Given the description of an element on the screen output the (x, y) to click on. 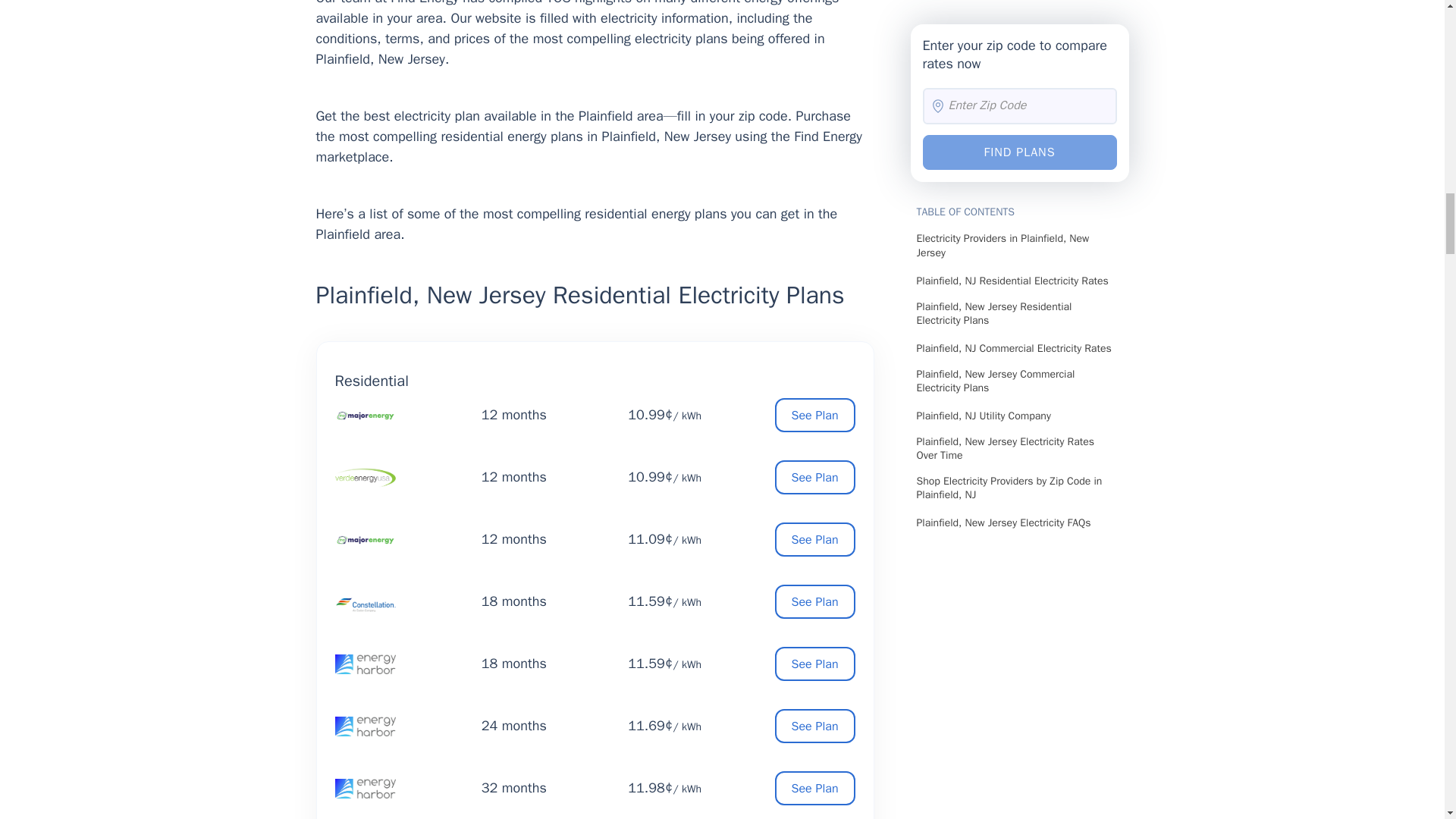
See Plan (815, 601)
See Plan (815, 725)
See Plan (815, 477)
See Plan (815, 415)
Plainfield, New Jersey Residential Electricity Plans (594, 298)
See Plan (815, 788)
See Plan (815, 539)
See Plan (815, 663)
